Given the description of an element on the screen output the (x, y) to click on. 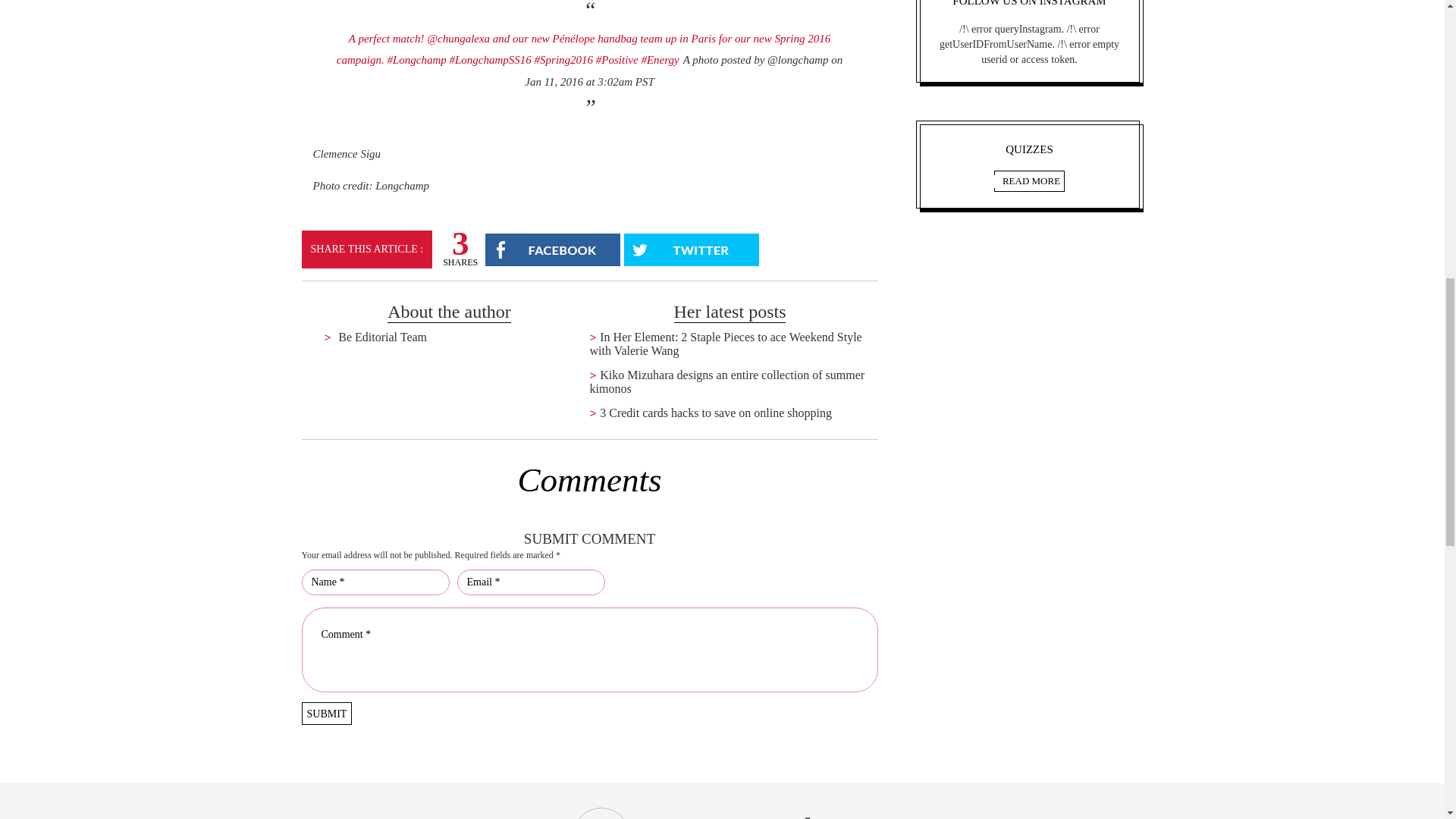
Submit (326, 712)
